Given the description of an element on the screen output the (x, y) to click on. 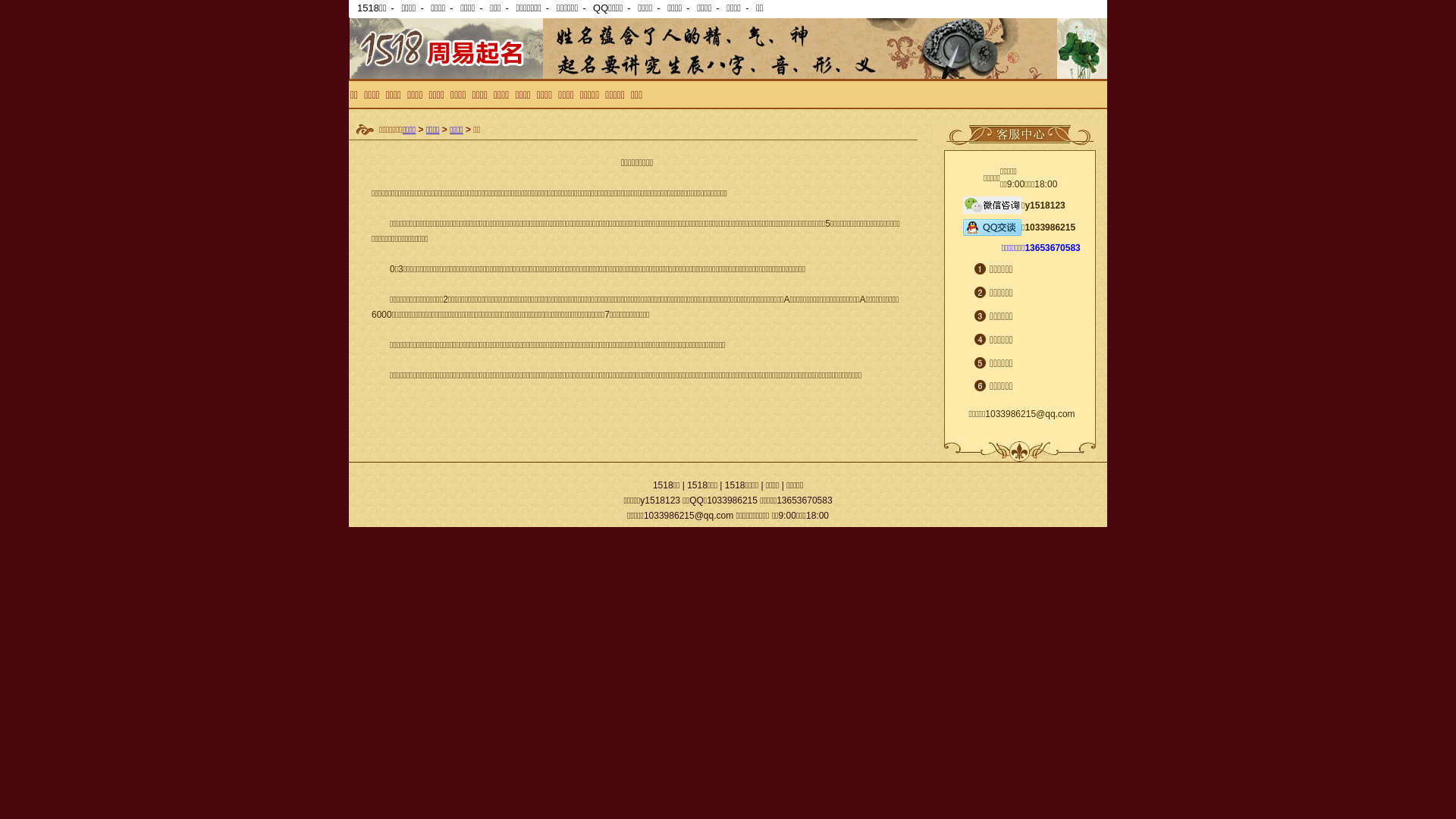
1033986215@qq.com Element type: text (1029, 412)
1033986215 Element type: text (1049, 226)
